Given the description of an element on the screen output the (x, y) to click on. 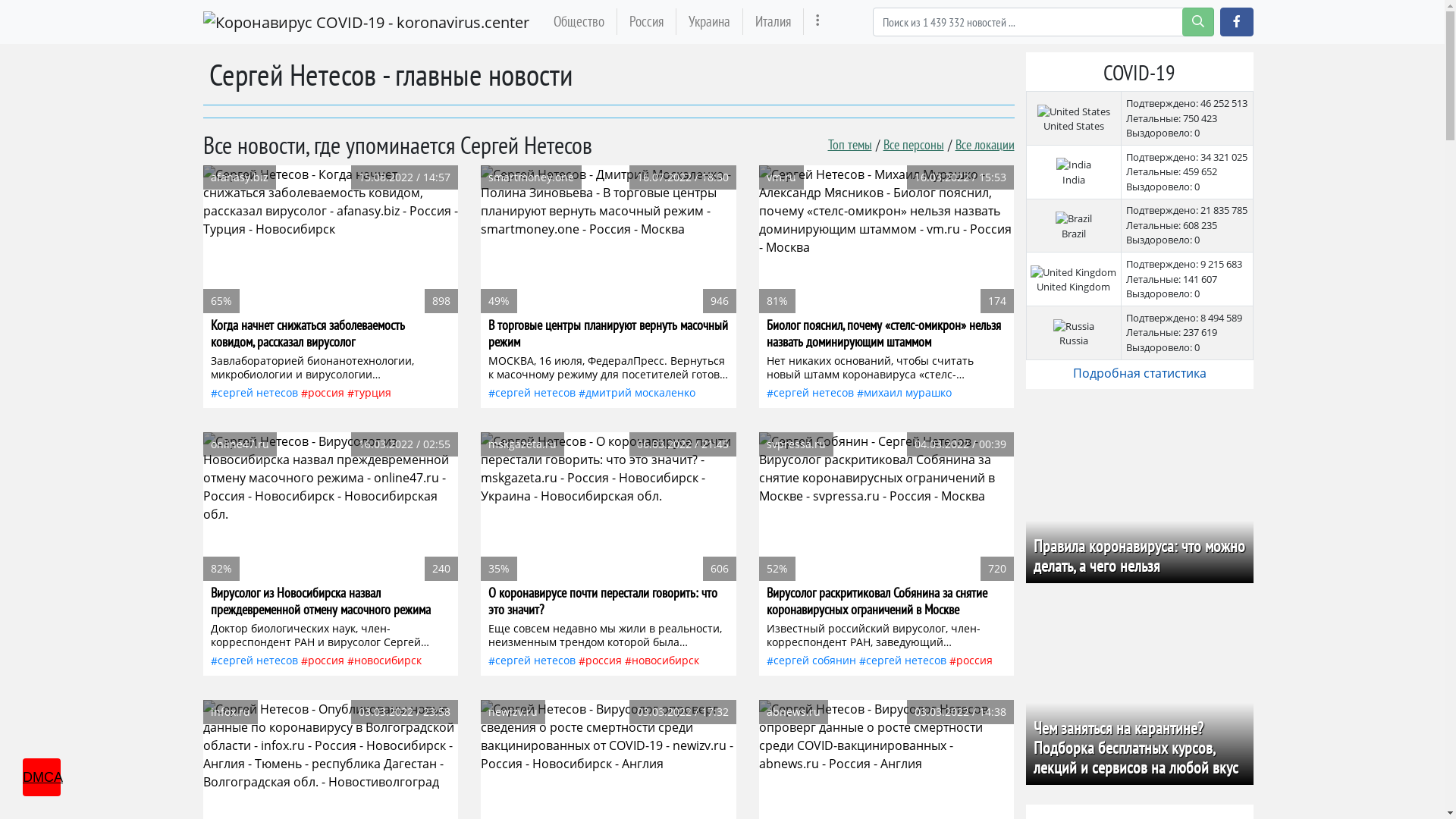
DMCA Element type: text (41, 777)
facebook.com Element type: hover (1235, 21)
